Given the description of an element on the screen output the (x, y) to click on. 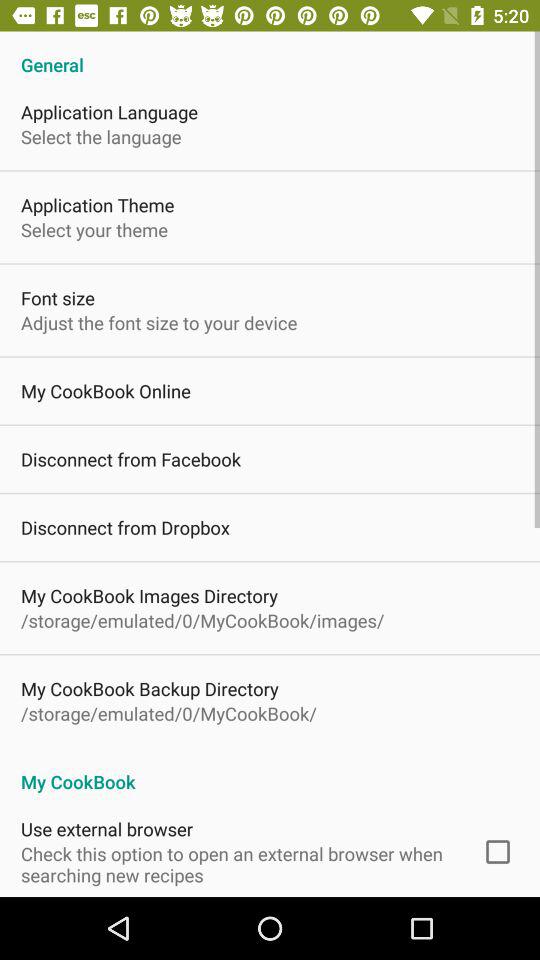
tap the general app (270, 54)
